Given the description of an element on the screen output the (x, y) to click on. 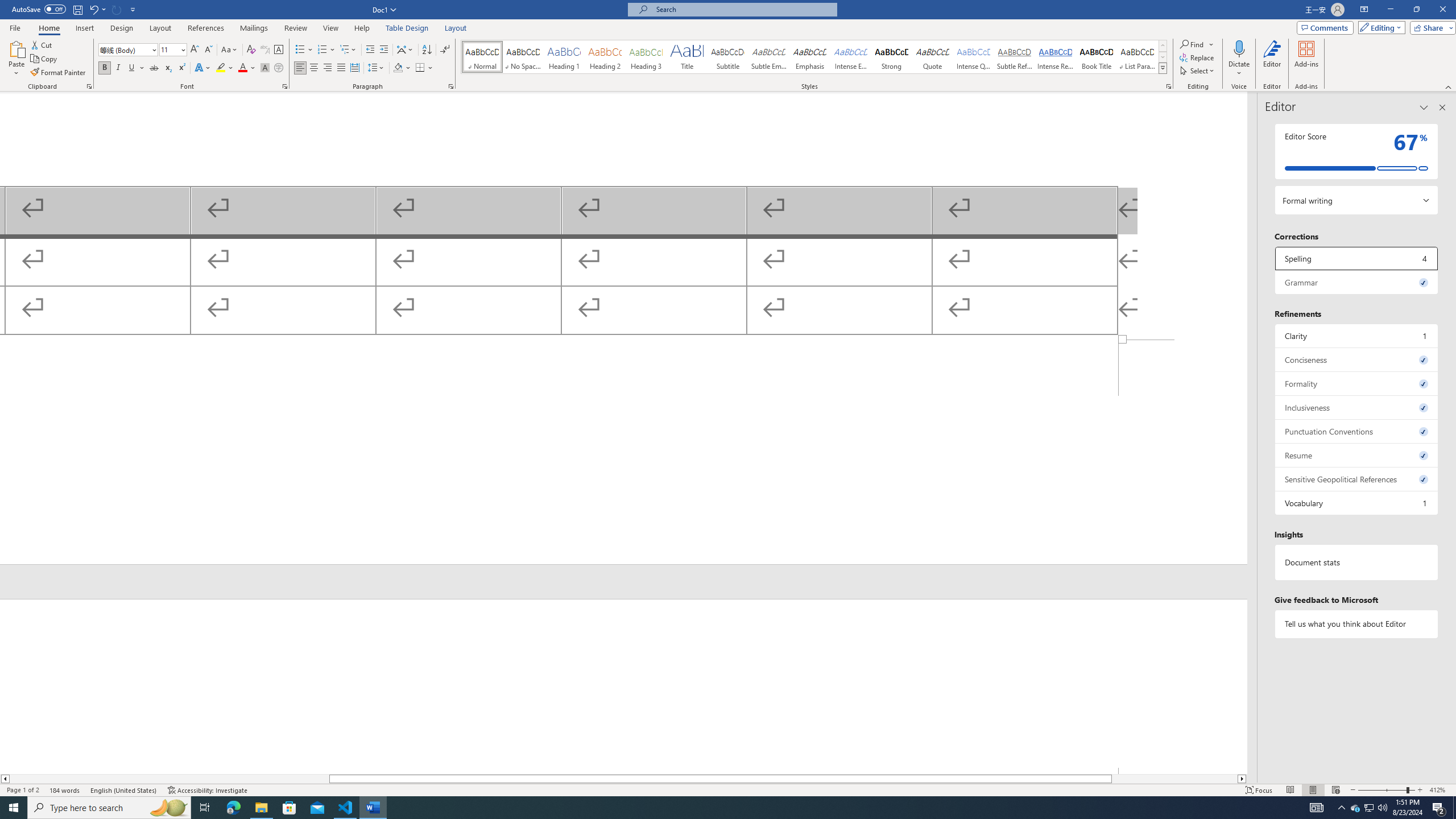
Phonetic Guide... (264, 49)
